Given the description of an element on the screen output the (x, y) to click on. 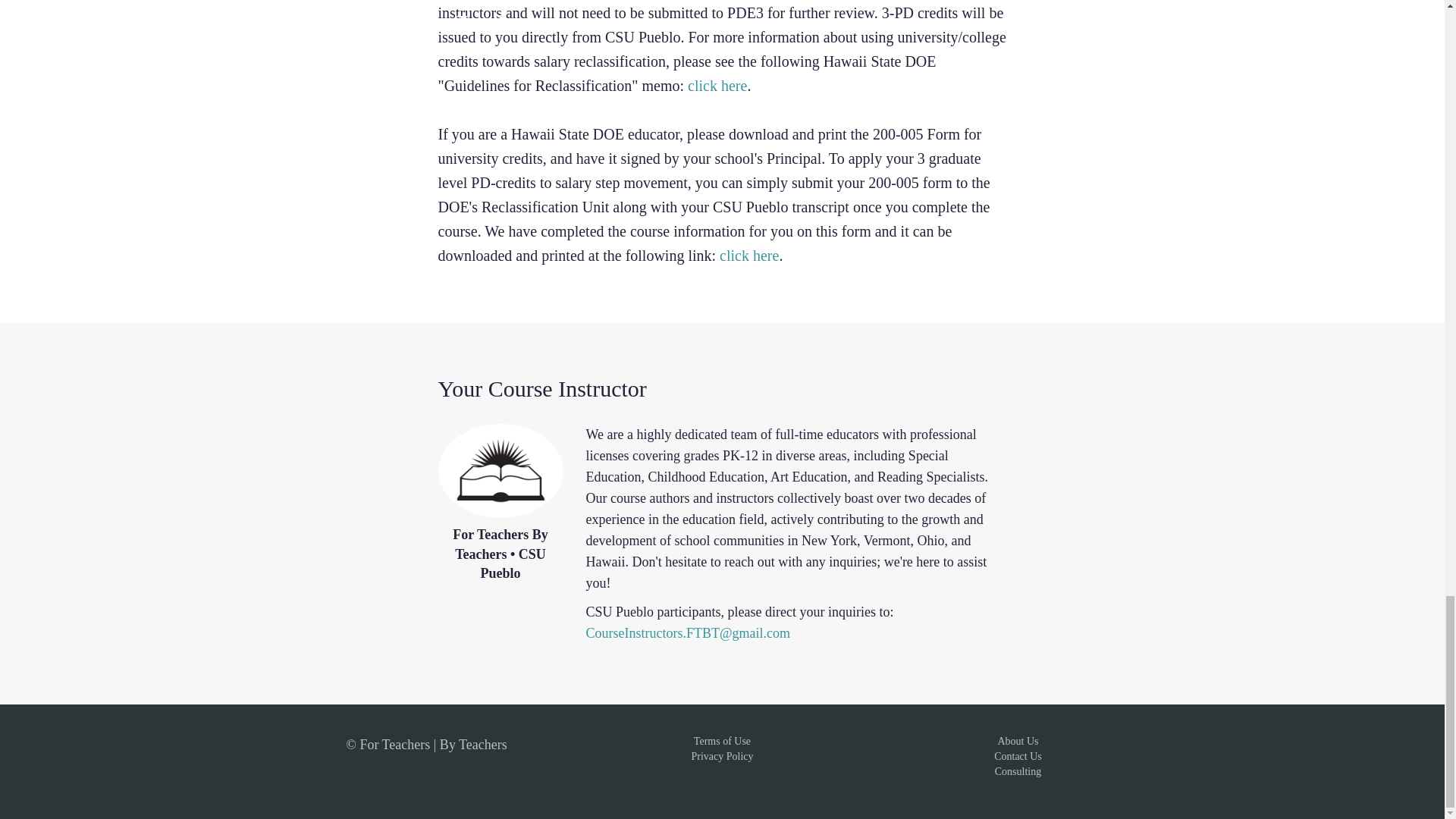
Consulting (1017, 771)
About Us (1017, 740)
click here (748, 255)
Privacy Policy (721, 756)
Contact Us (1018, 756)
click here (716, 85)
Terms of Use (722, 740)
